Given the description of an element on the screen output the (x, y) to click on. 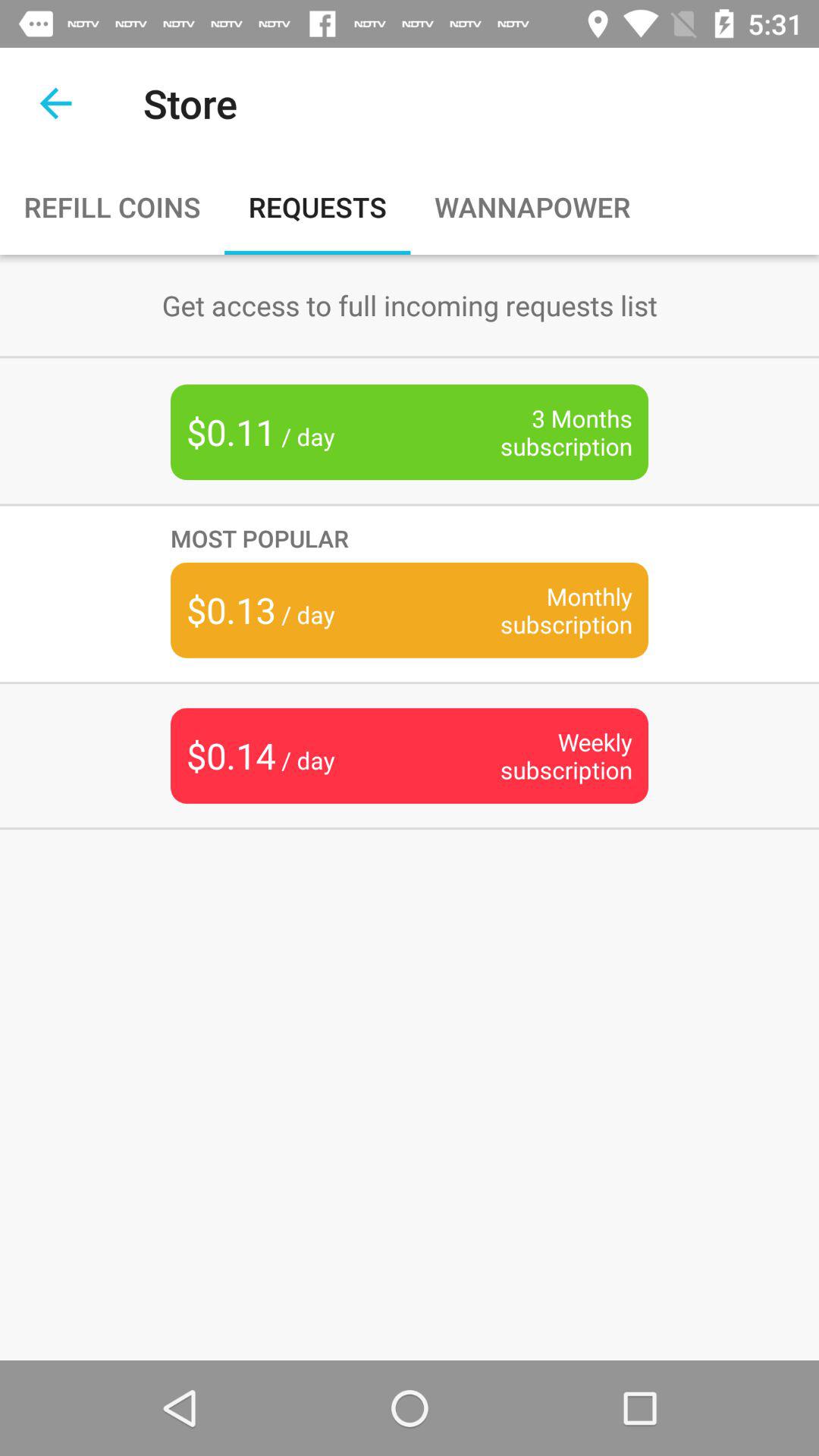
back arrow (55, 103)
